Given the description of an element on the screen output the (x, y) to click on. 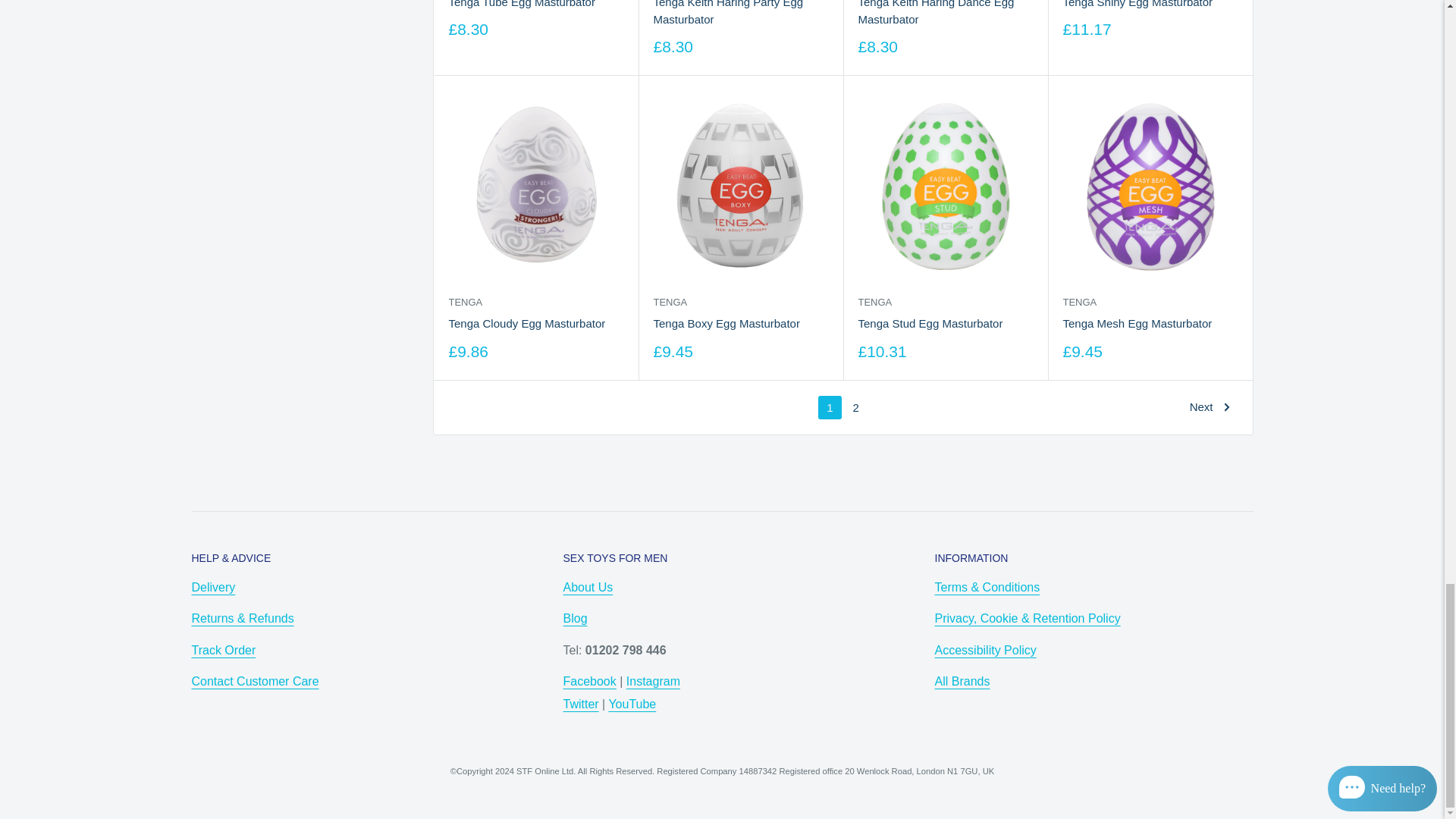
CUSTOMER SERVICE (212, 586)
Our Brands (962, 680)
Contact (254, 680)
Navigate to page 2 (855, 407)
YouTube (632, 703)
Next (1209, 407)
Accessibility Policy (984, 649)
About us (587, 586)
